Given the description of an element on the screen output the (x, y) to click on. 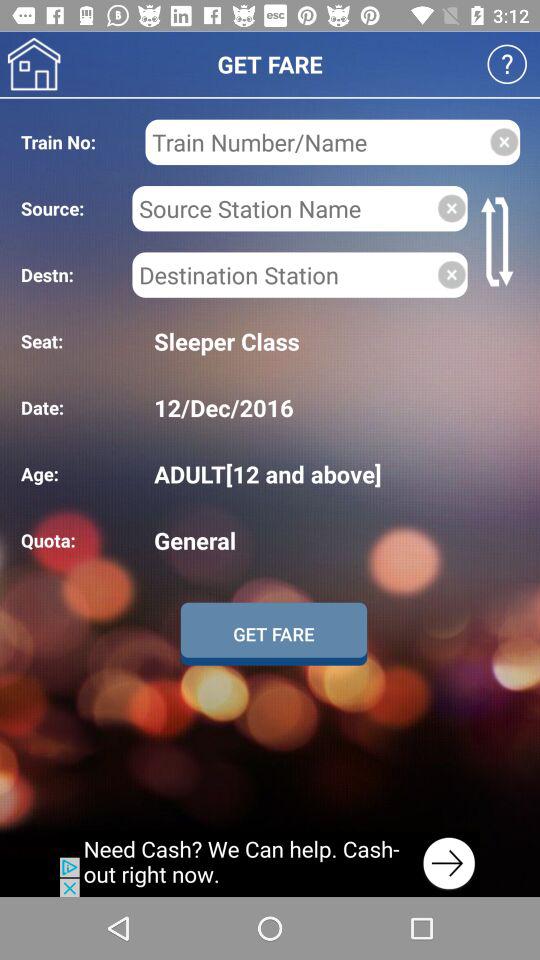
switch source and destination (500, 241)
